Given the description of an element on the screen output the (x, y) to click on. 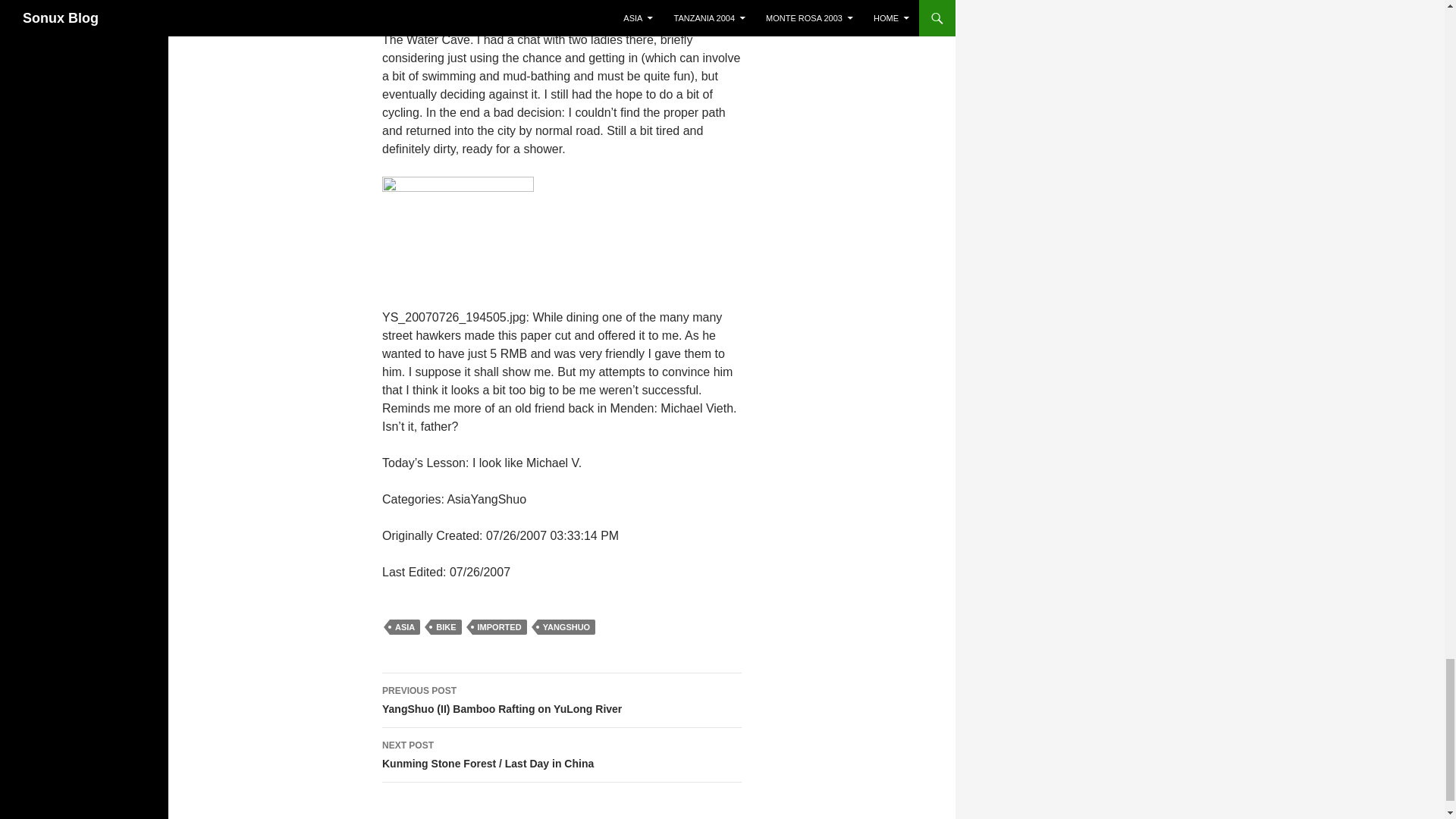
ASIA (405, 626)
BIKE (445, 626)
IMPORTED (499, 626)
YANGSHUO (566, 626)
